Given the description of an element on the screen output the (x, y) to click on. 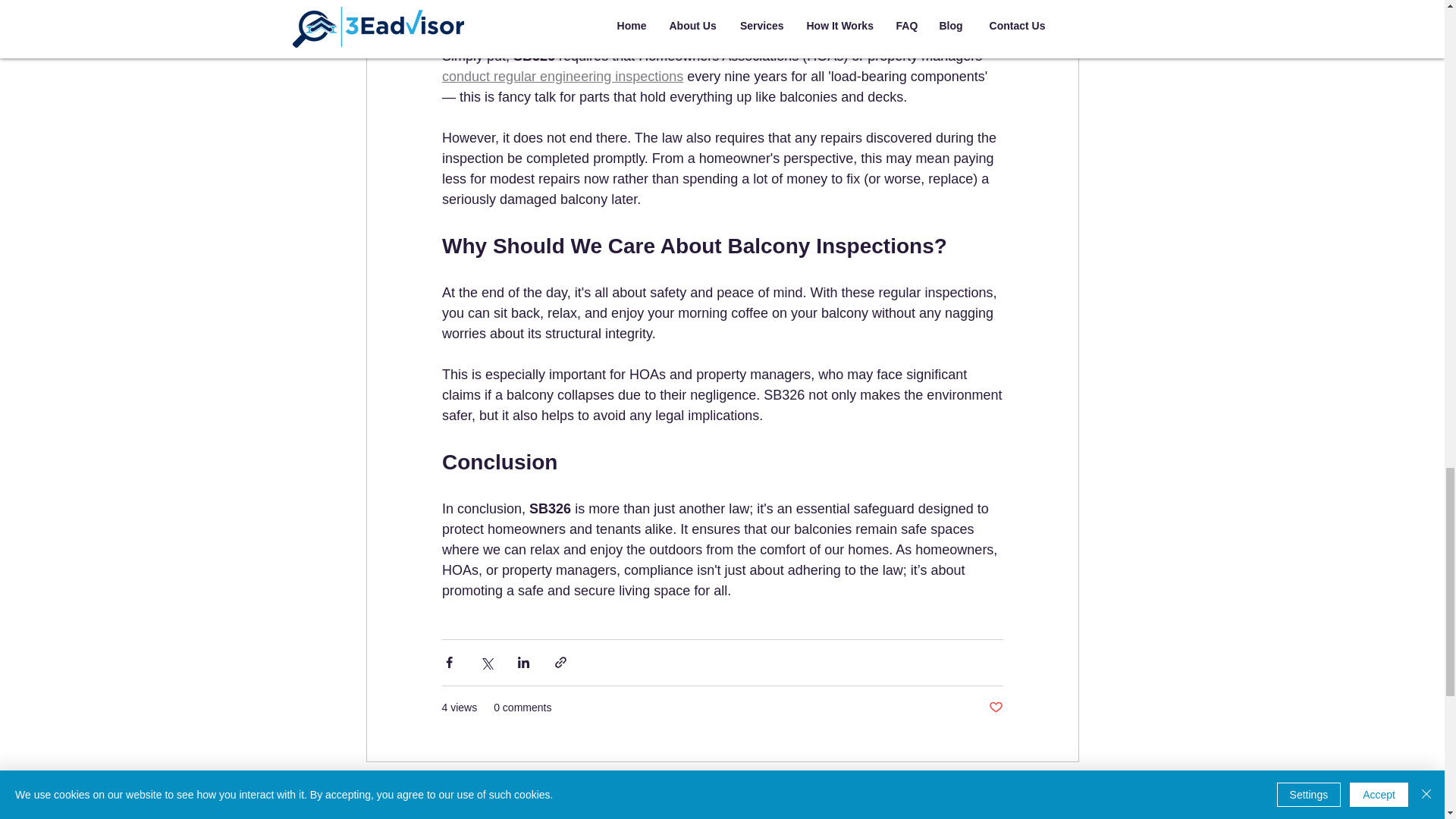
conduct regular engineering inspections (561, 76)
See All (1061, 790)
Post not marked as liked (995, 707)
